Given the description of an element on the screen output the (x, y) to click on. 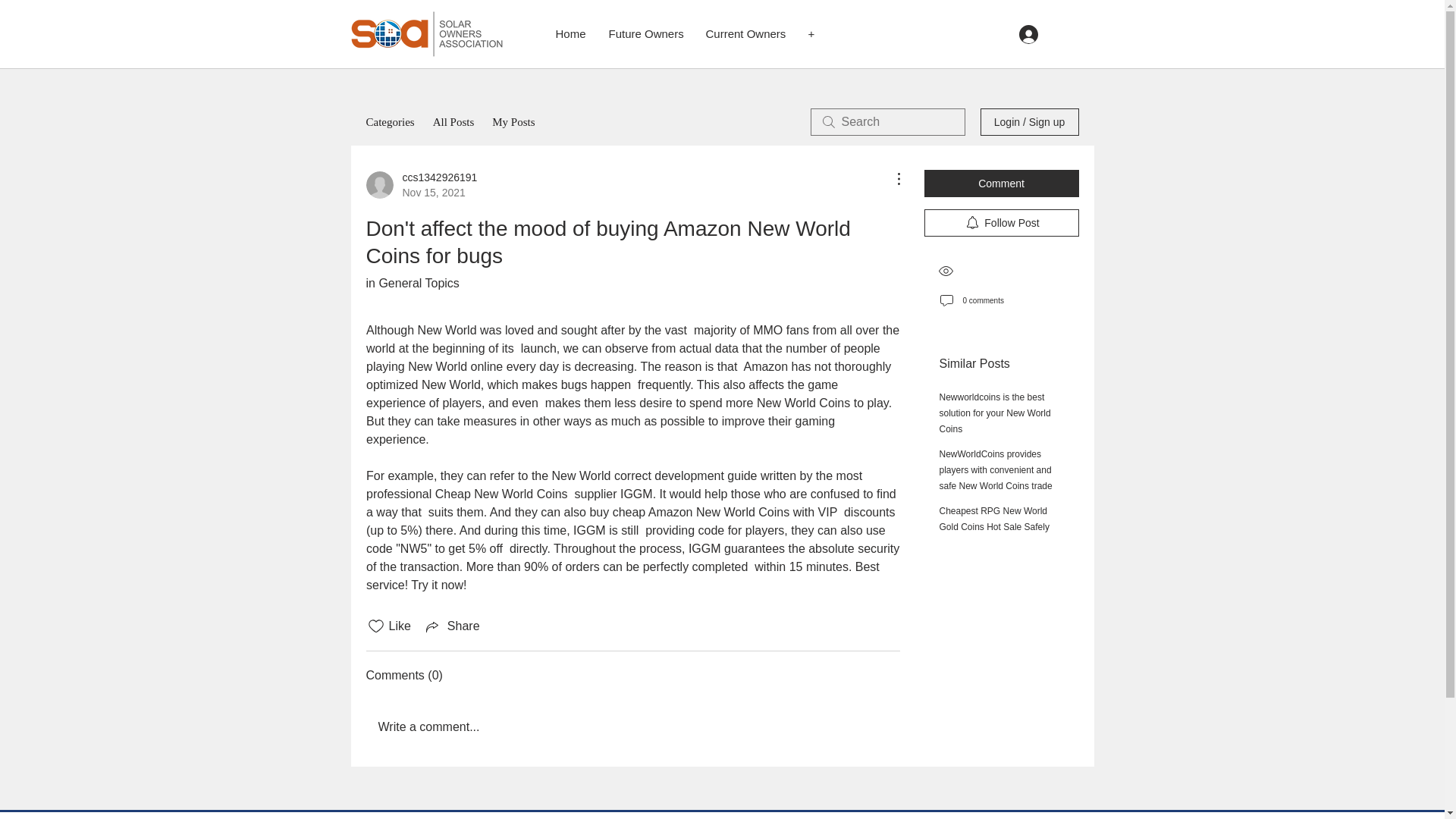
Comment (1000, 183)
Log In (1051, 33)
Cheap New World Coins (500, 493)
Categories (389, 122)
All Posts (421, 184)
Write a comment... (453, 122)
Newworldcoins is the best solution for your New World Coins (632, 726)
New World Coins (994, 413)
Home (801, 402)
Share (570, 33)
My Posts (451, 626)
Cheapest RPG New World Gold Coins Hot Sale Safely (513, 122)
Follow Post (993, 519)
